Given the description of an element on the screen output the (x, y) to click on. 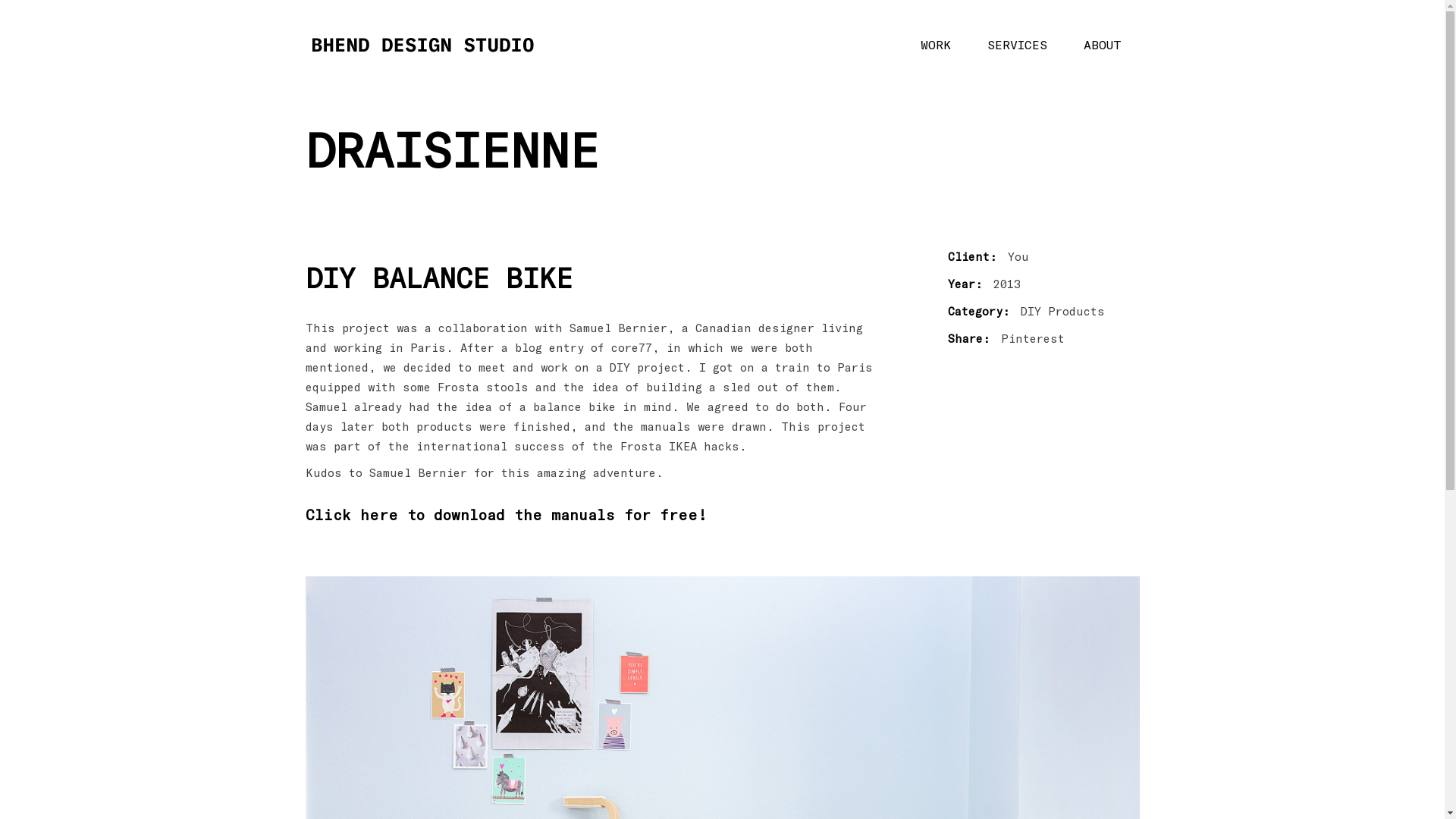
SERVICES Element type: text (1017, 44)
WORK Element type: text (935, 44)
ABOUT Element type: text (1101, 44)
Pinterest Element type: text (1032, 338)
Click here to download the manuals for free! Element type: text (505, 514)
